Given the description of an element on the screen output the (x, y) to click on. 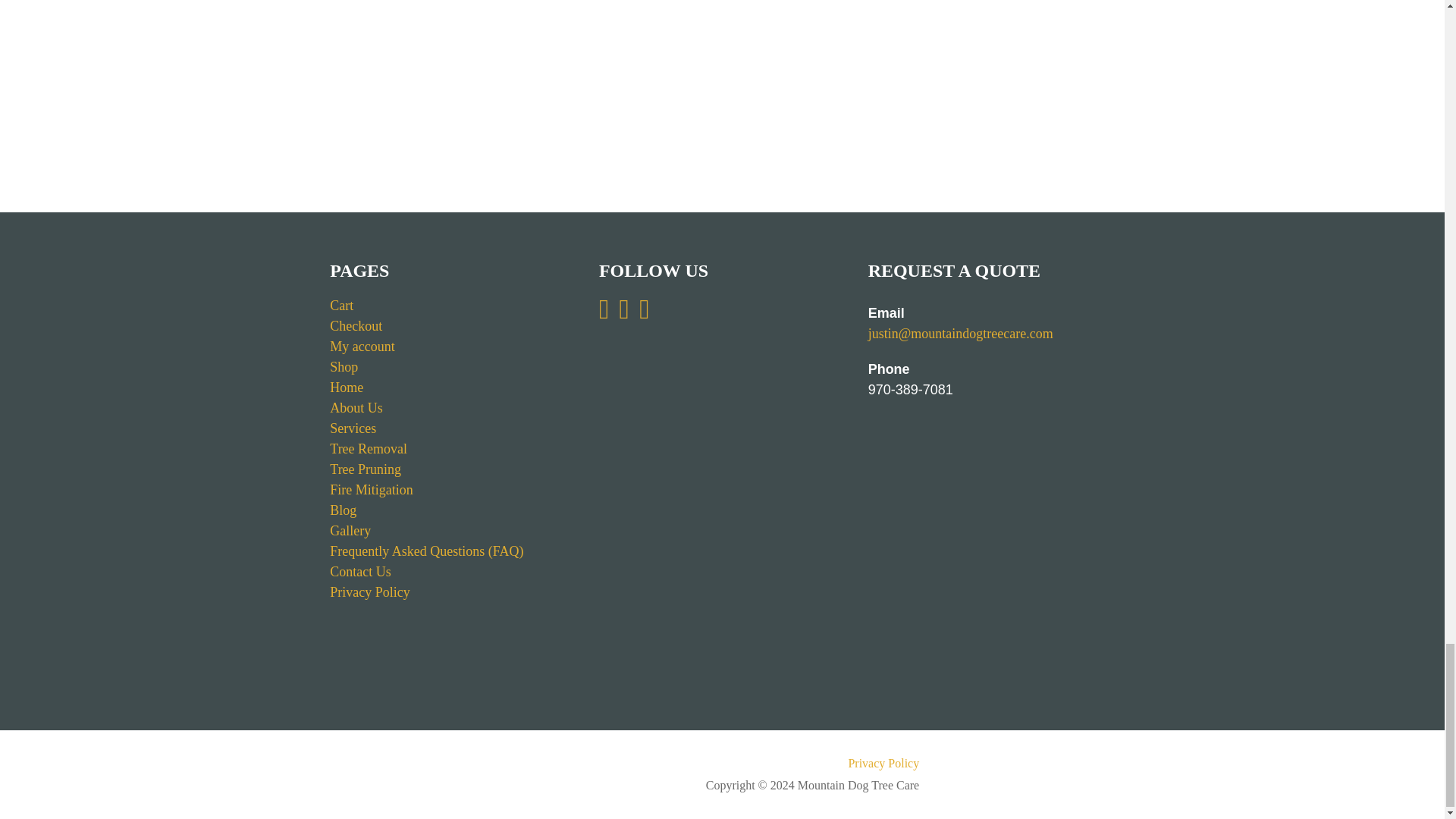
My account (362, 346)
Tree Removal (368, 448)
Cart (341, 305)
Services (352, 427)
Checkout (355, 325)
Tree Pruning (365, 468)
Home (346, 387)
Shop (344, 366)
About Us (356, 407)
